Given the description of an element on the screen output the (x, y) to click on. 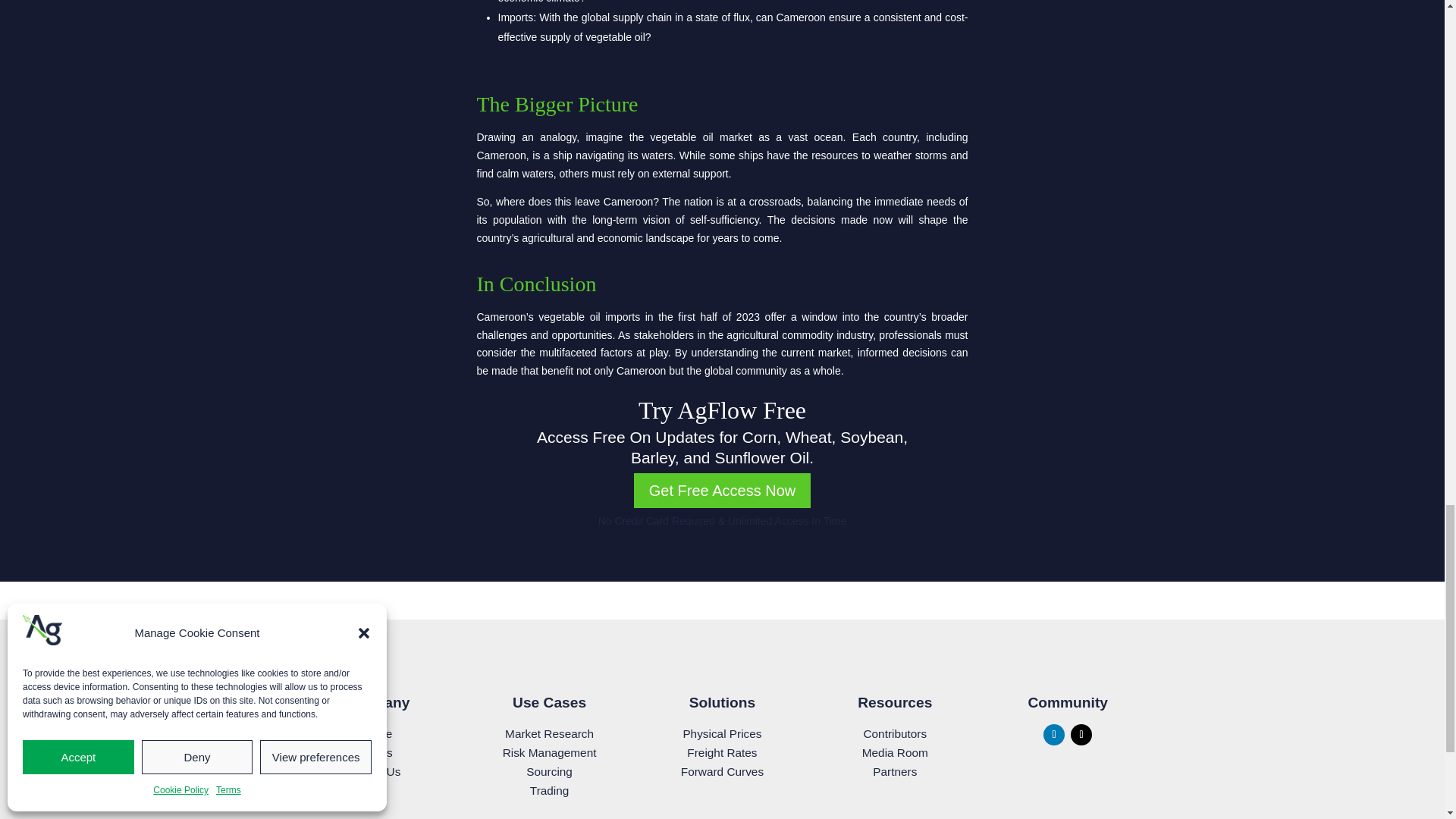
Follow on LinkedIn (1053, 734)
Follow on X (1081, 734)
